Given the description of an element on the screen output the (x, y) to click on. 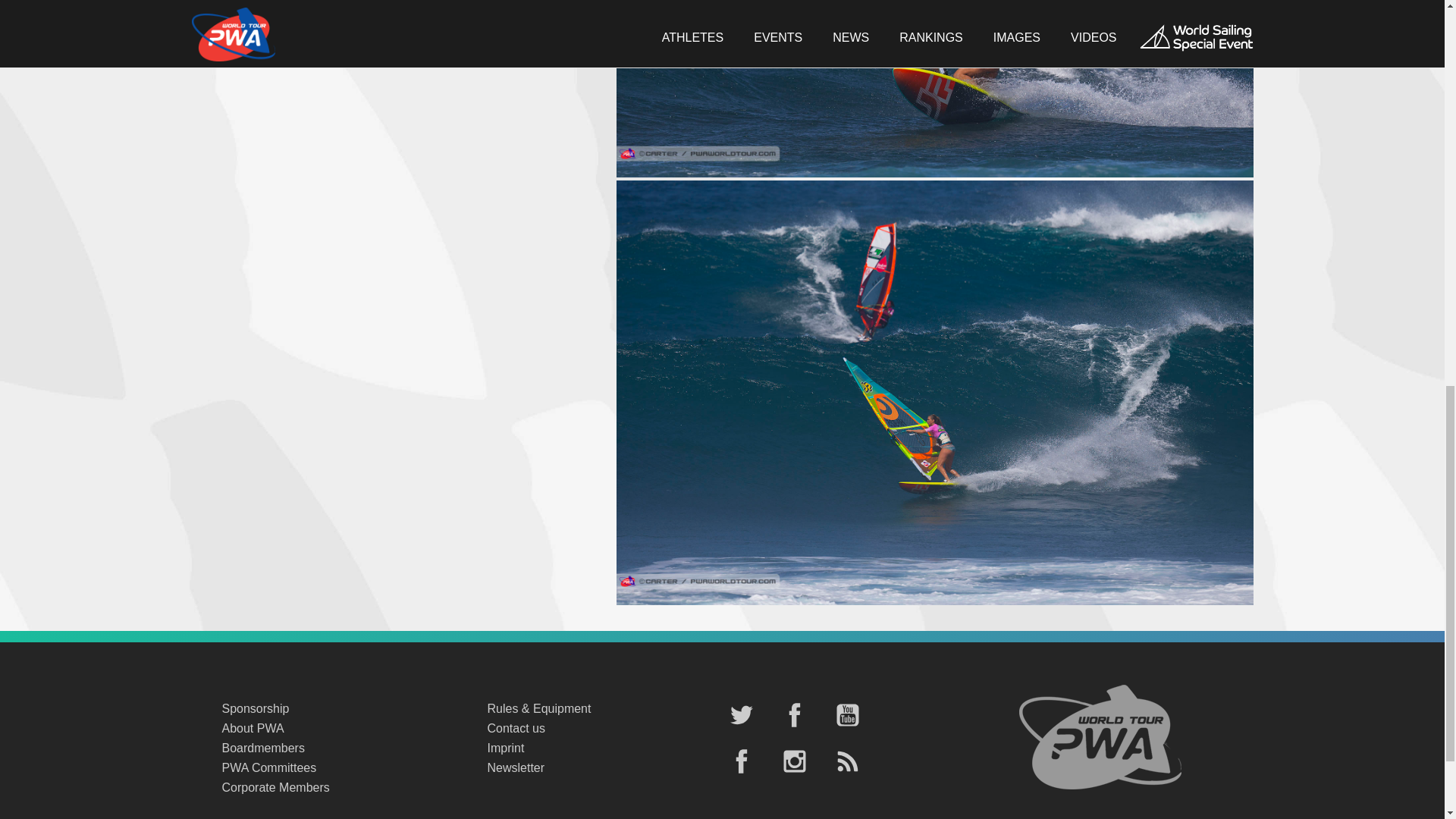
Shawna  Cropas (933, 600)
Follow PWA on Facebook (793, 716)
PWA RSS News Feed (847, 762)
Sponsorship (339, 709)
Newsletter (604, 768)
PWA Women Facebook Page (741, 762)
PWA YouTube Channel (847, 716)
Boardmembers (339, 748)
Follow PWA on Twitter (741, 716)
Contact us (604, 728)
